Given the description of an element on the screen output the (x, y) to click on. 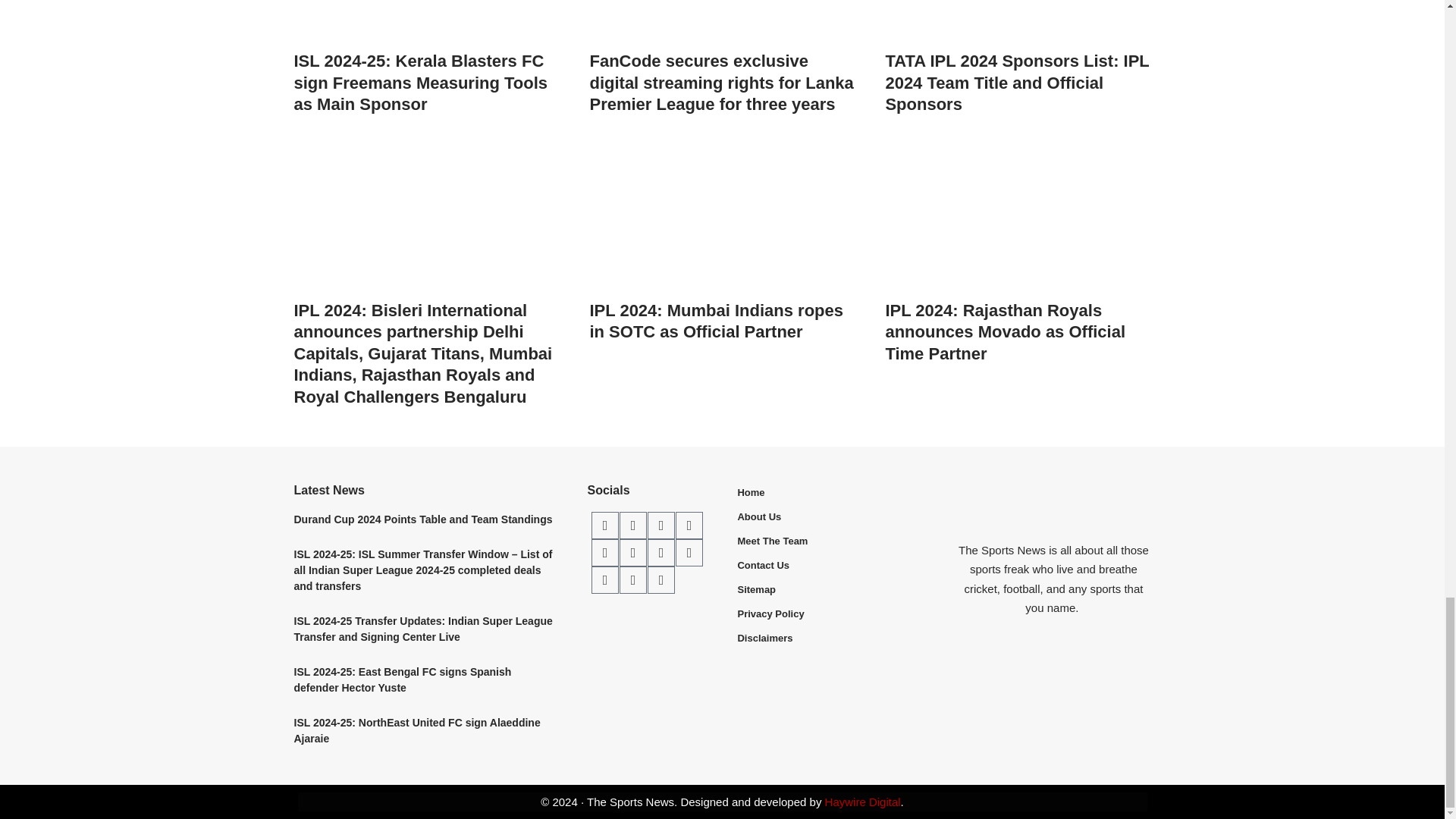
IPL 2024: Mumbai Indians ropes in SOTC as Official Partner (721, 216)
